Given the description of an element on the screen output the (x, y) to click on. 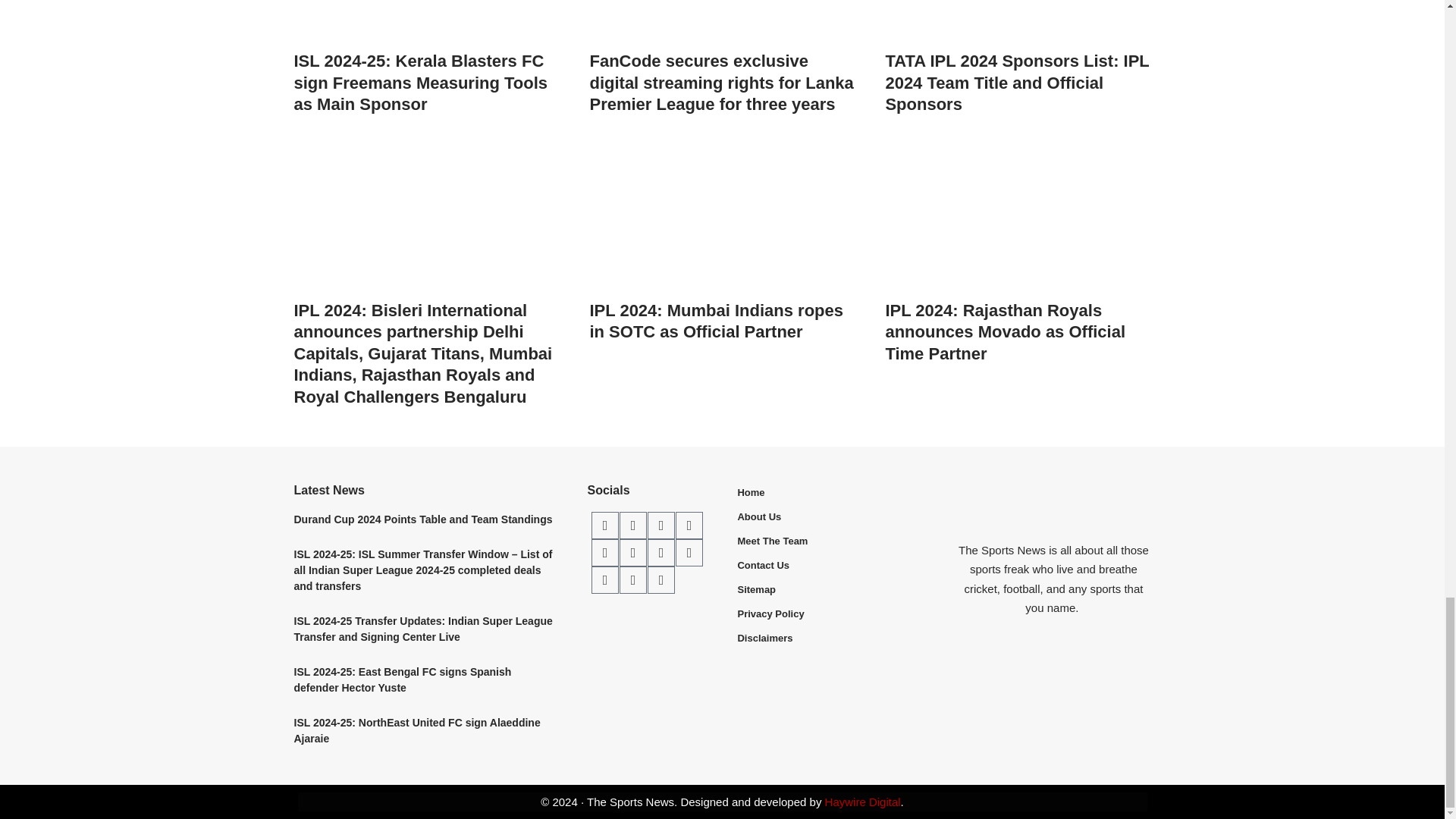
IPL 2024: Mumbai Indians ropes in SOTC as Official Partner (721, 216)
